Given the description of an element on the screen output the (x, y) to click on. 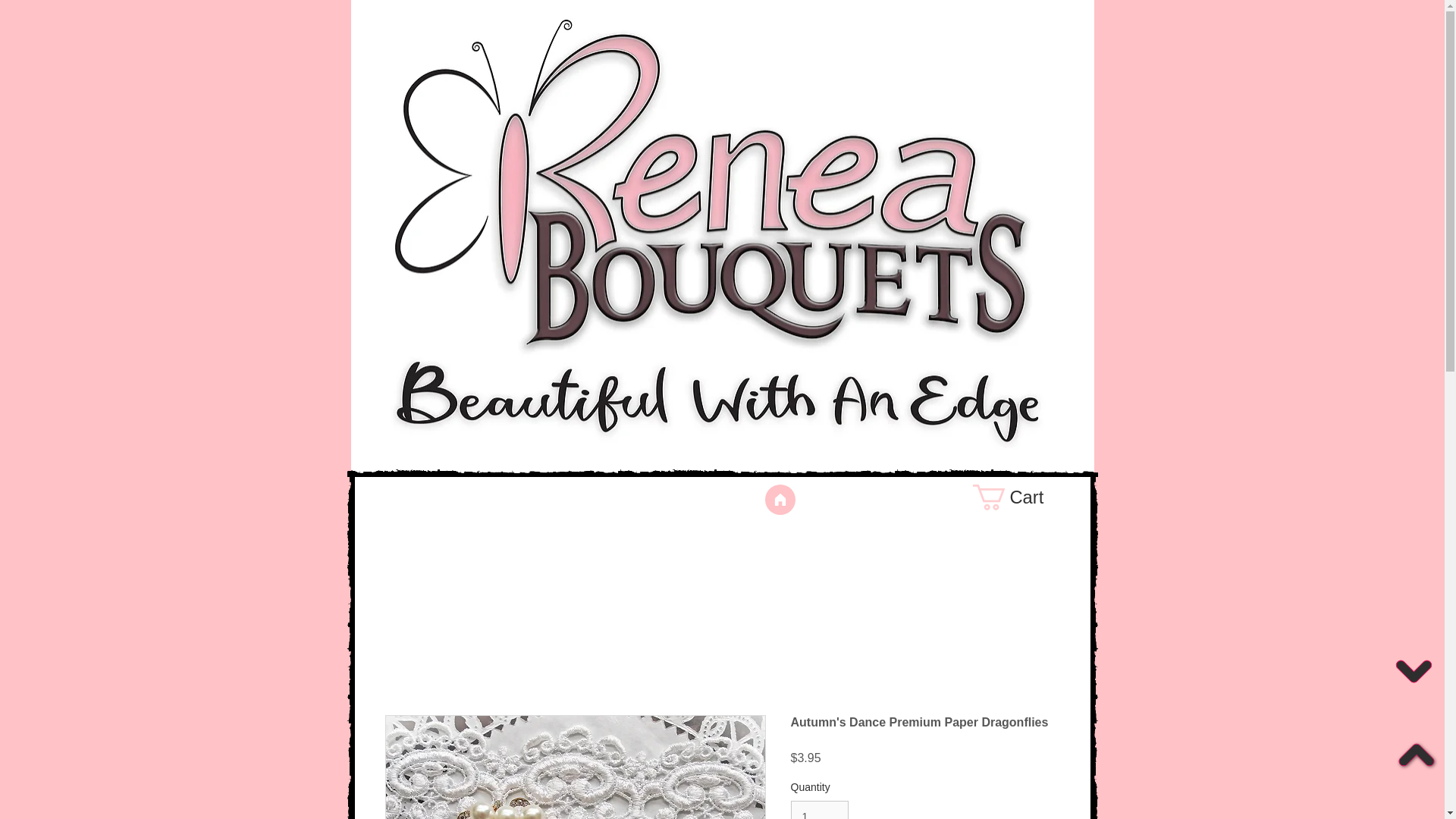
Cart (1021, 497)
Cart (1021, 497)
1 (818, 809)
